Given the description of an element on the screen output the (x, y) to click on. 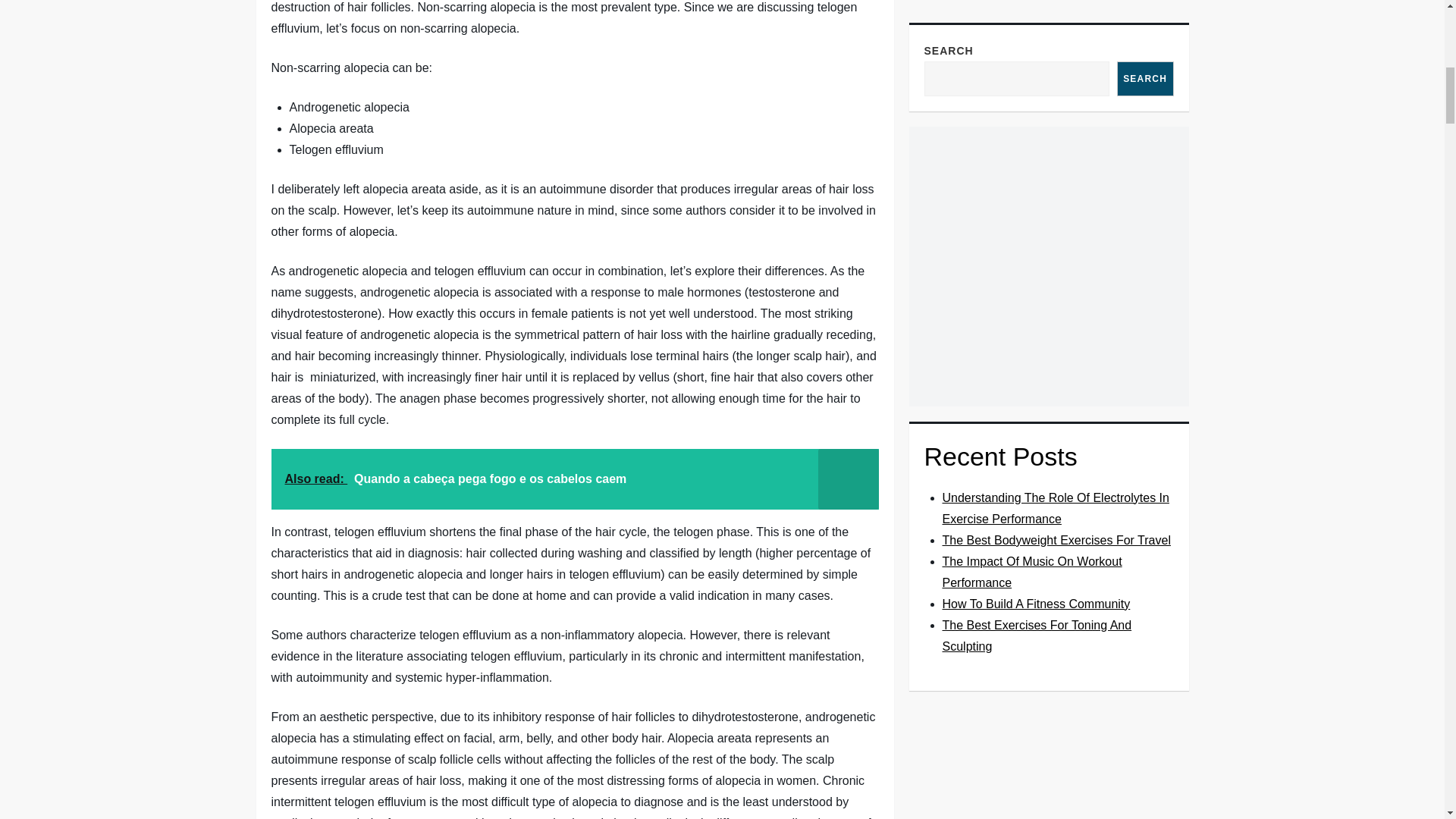
The Best Exercises For Toning And Sculpting (1036, 6)
